Given the description of an element on the screen output the (x, y) to click on. 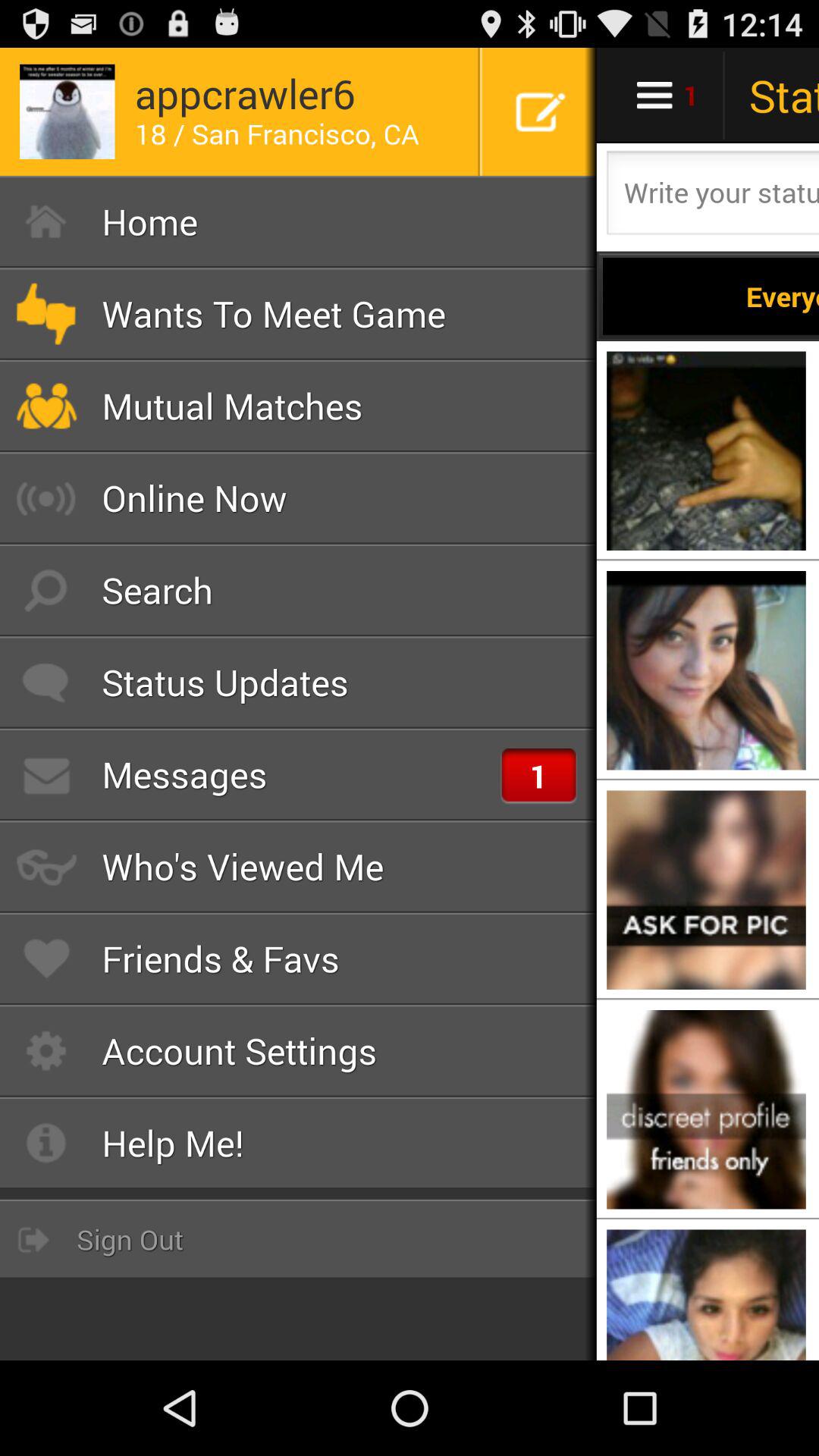
scroll to the mutual matches item (298, 406)
